Given the description of an element on the screen output the (x, y) to click on. 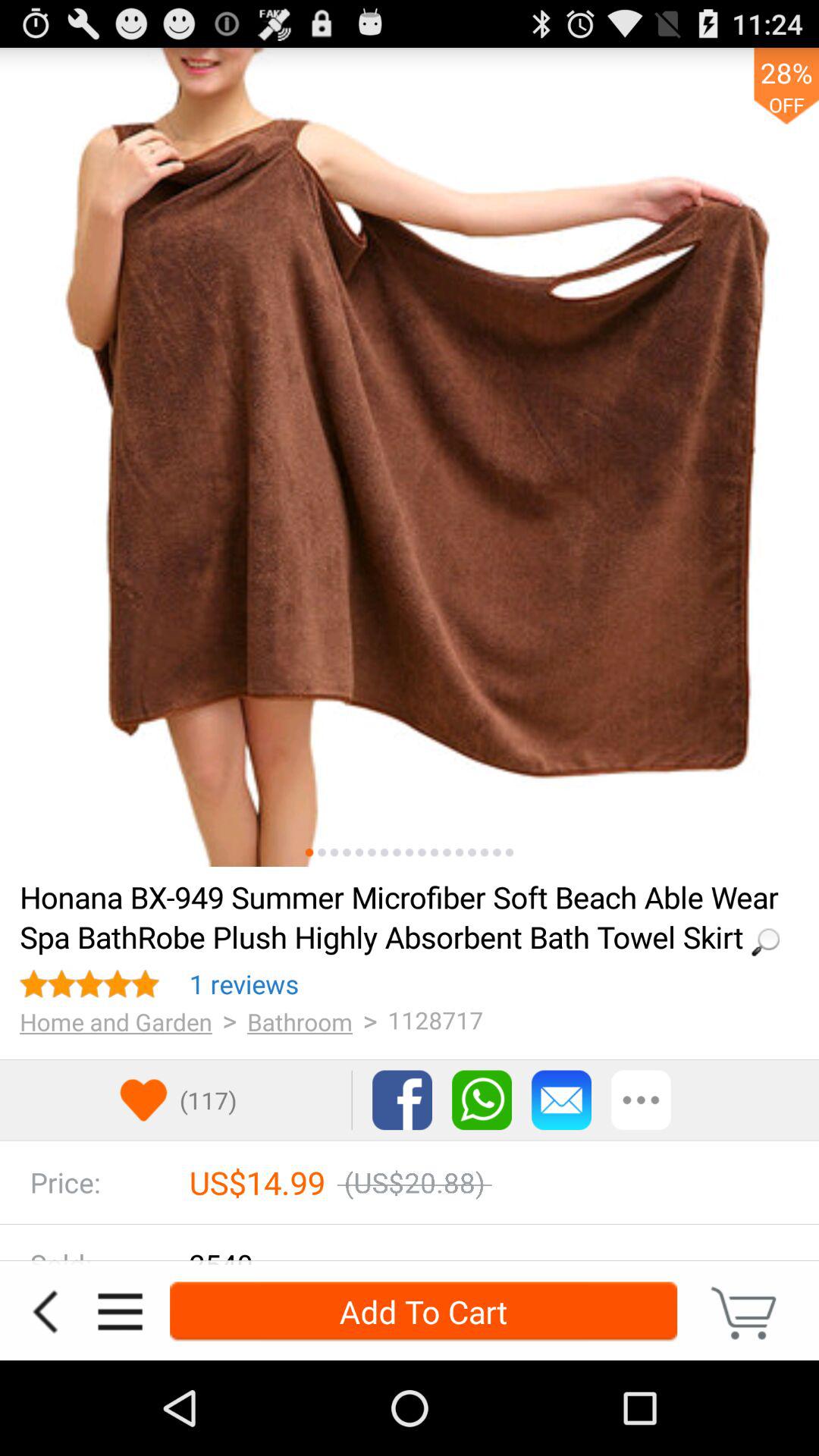
zoom picture (409, 456)
